Given the description of an element on the screen output the (x, y) to click on. 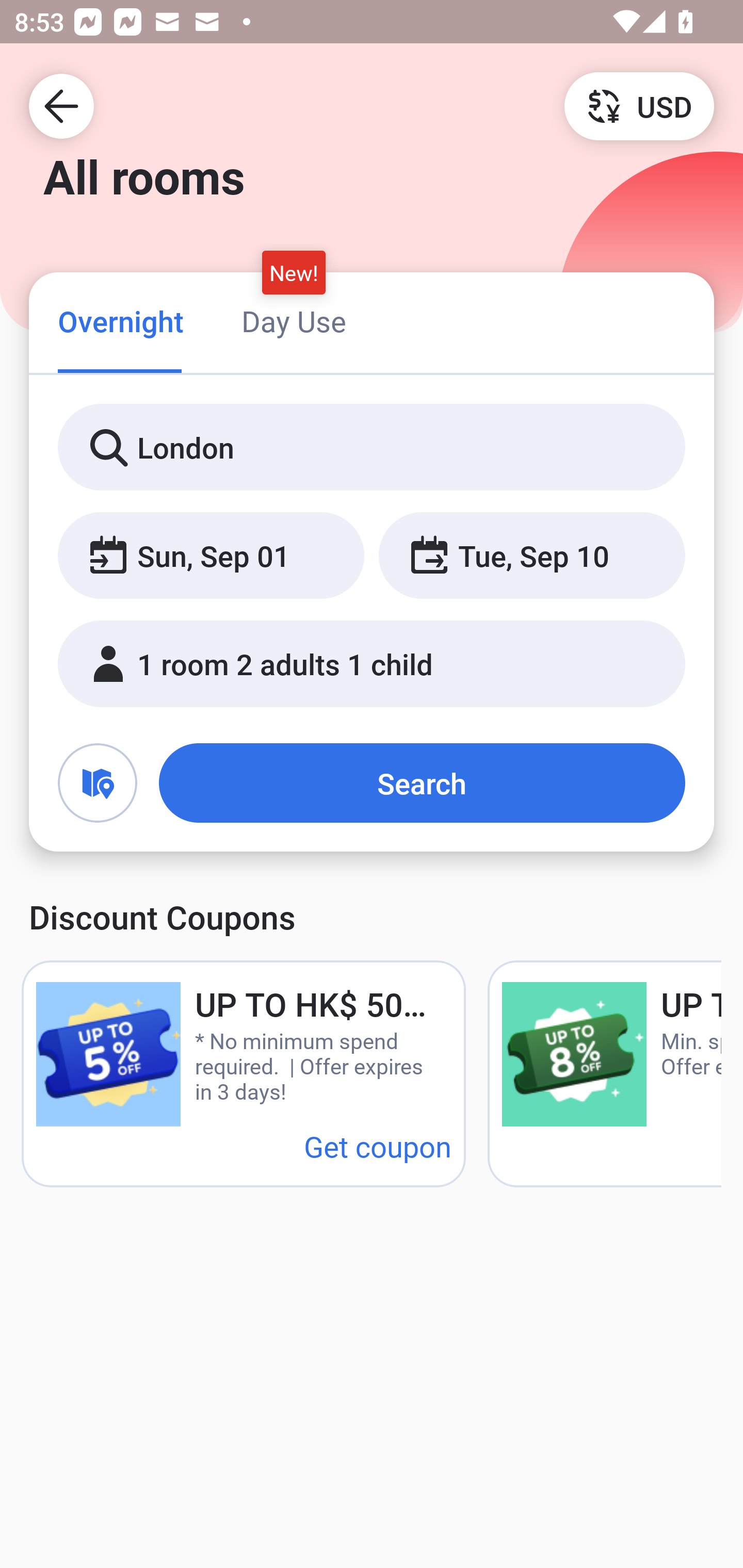
USD (639, 105)
New! (294, 272)
Day Use (293, 321)
London (371, 447)
Sun, Sep 01 (210, 555)
Tue, Sep 10 (531, 555)
1 room 2 adults 1 child (371, 663)
Search (422, 783)
Get coupon (377, 1146)
